Given the description of an element on the screen output the (x, y) to click on. 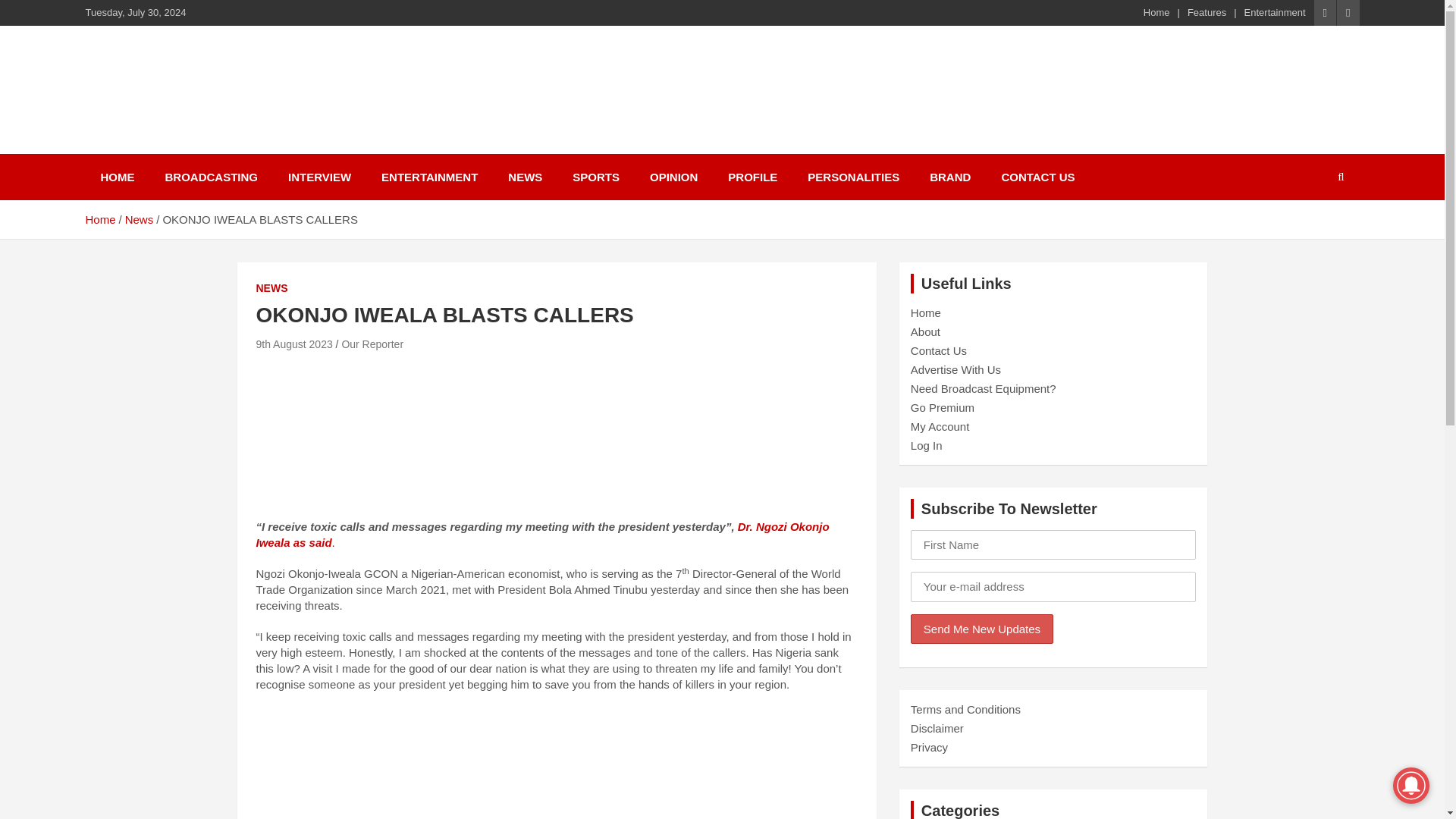
Dr. Ngozi Okonjo Iweala as said. (542, 534)
About (925, 331)
Home (1156, 12)
Entertainment (1275, 12)
OPINION (673, 176)
Advertisement (556, 763)
Our Reporter (371, 344)
NEWS (525, 176)
OKONJO IWEALA BLASTS CALLERS (294, 344)
Go Premium (942, 407)
CONTACT US (1037, 176)
Log In (926, 445)
News (139, 219)
Home (99, 219)
PERSONALITIES (853, 176)
